Given the description of an element on the screen output the (x, y) to click on. 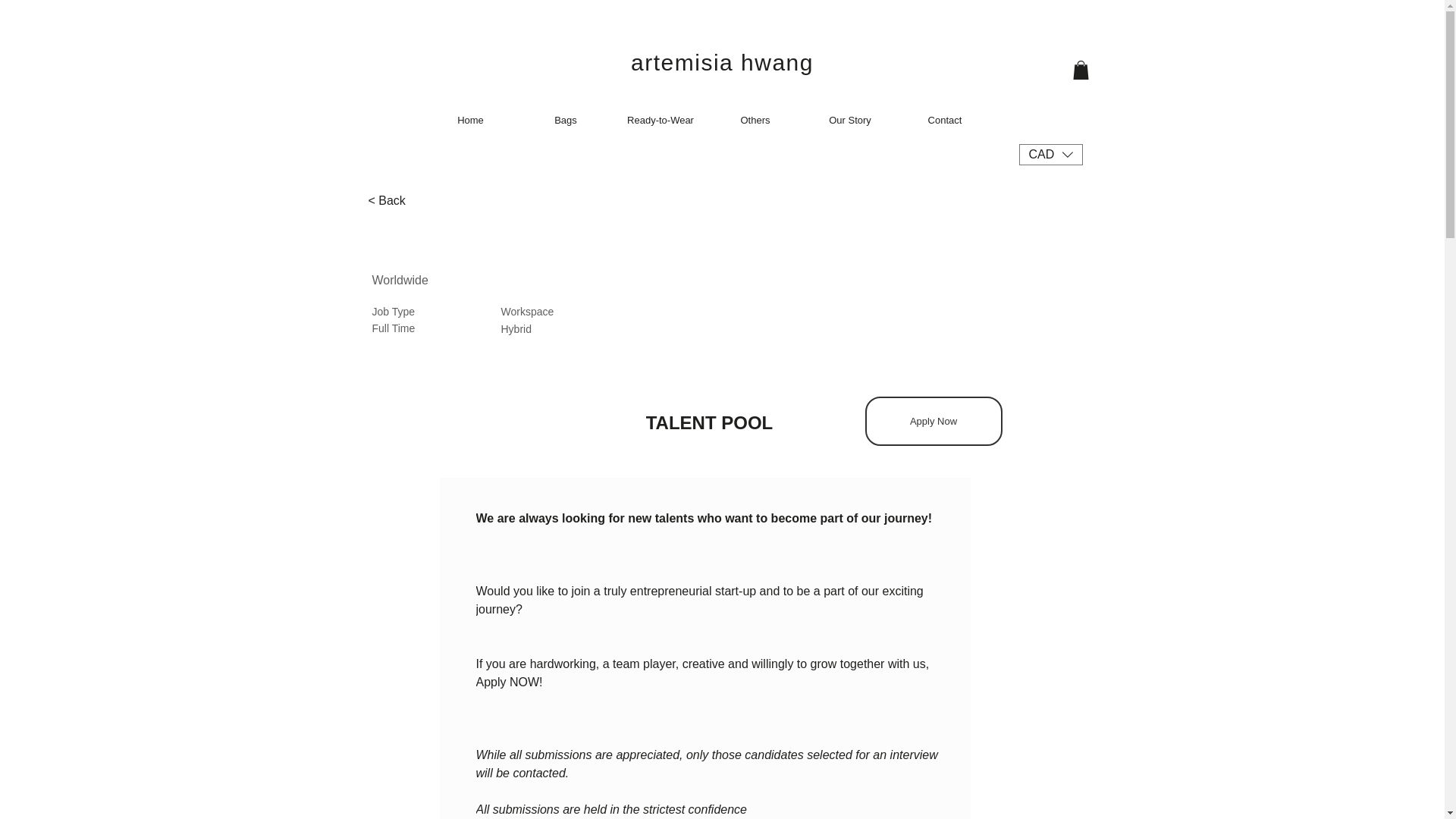
Bags (565, 120)
Home (470, 120)
artemisia hwang (721, 62)
Others (755, 120)
Apply Now (932, 420)
Our Story (849, 120)
Ready-to-Wear (659, 120)
Contact (945, 120)
